Given the description of an element on the screen output the (x, y) to click on. 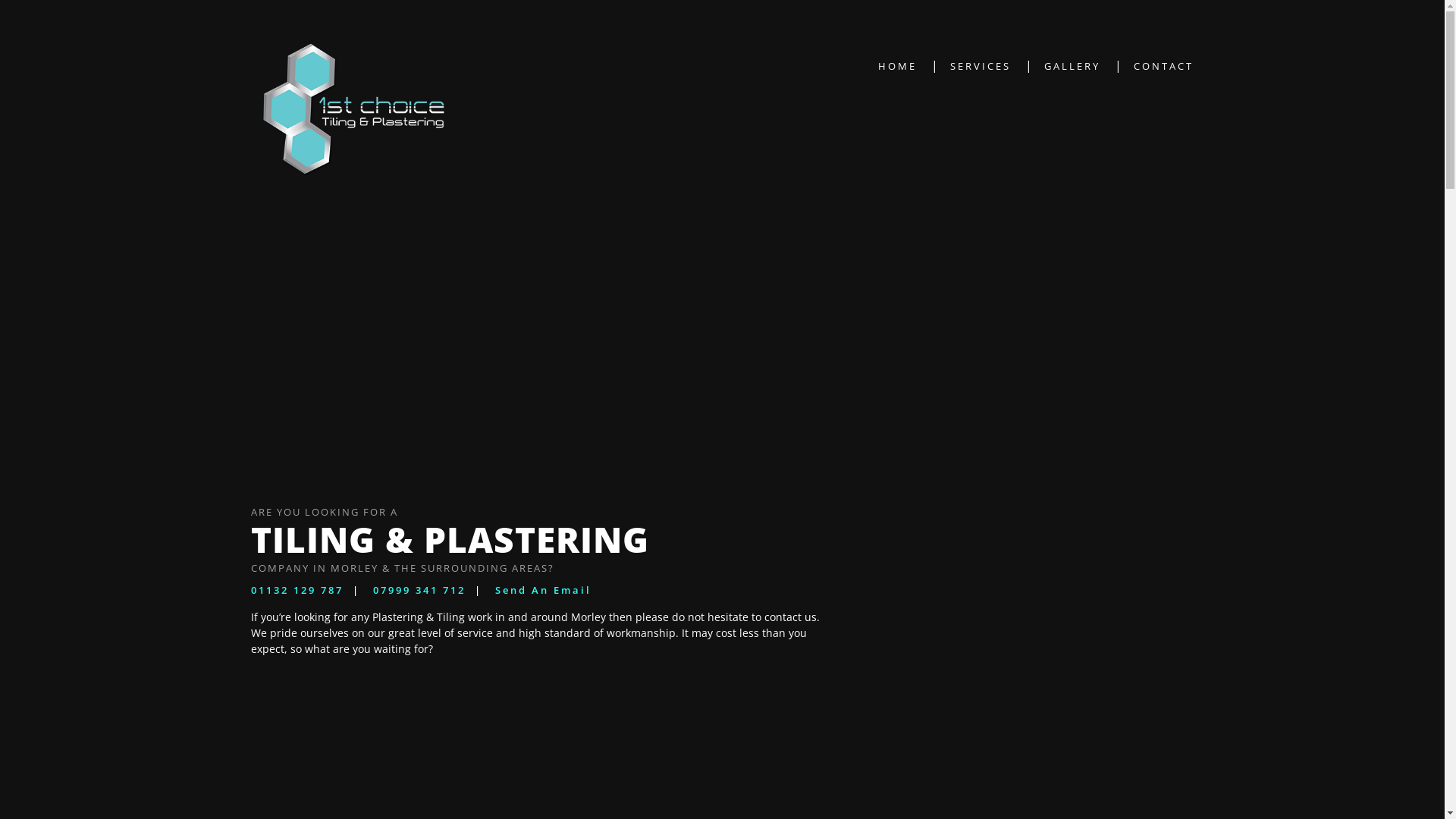
GALLERY Element type: text (1074, 65)
Send An Email Element type: text (543, 589)
07999 341 712 Element type: text (432, 589)
CONTACT Element type: text (1163, 65)
SERVICES Element type: text (982, 65)
HOME Element type: text (899, 65)
01132 129 787 Element type: text (310, 589)
